Given the description of an element on the screen output the (x, y) to click on. 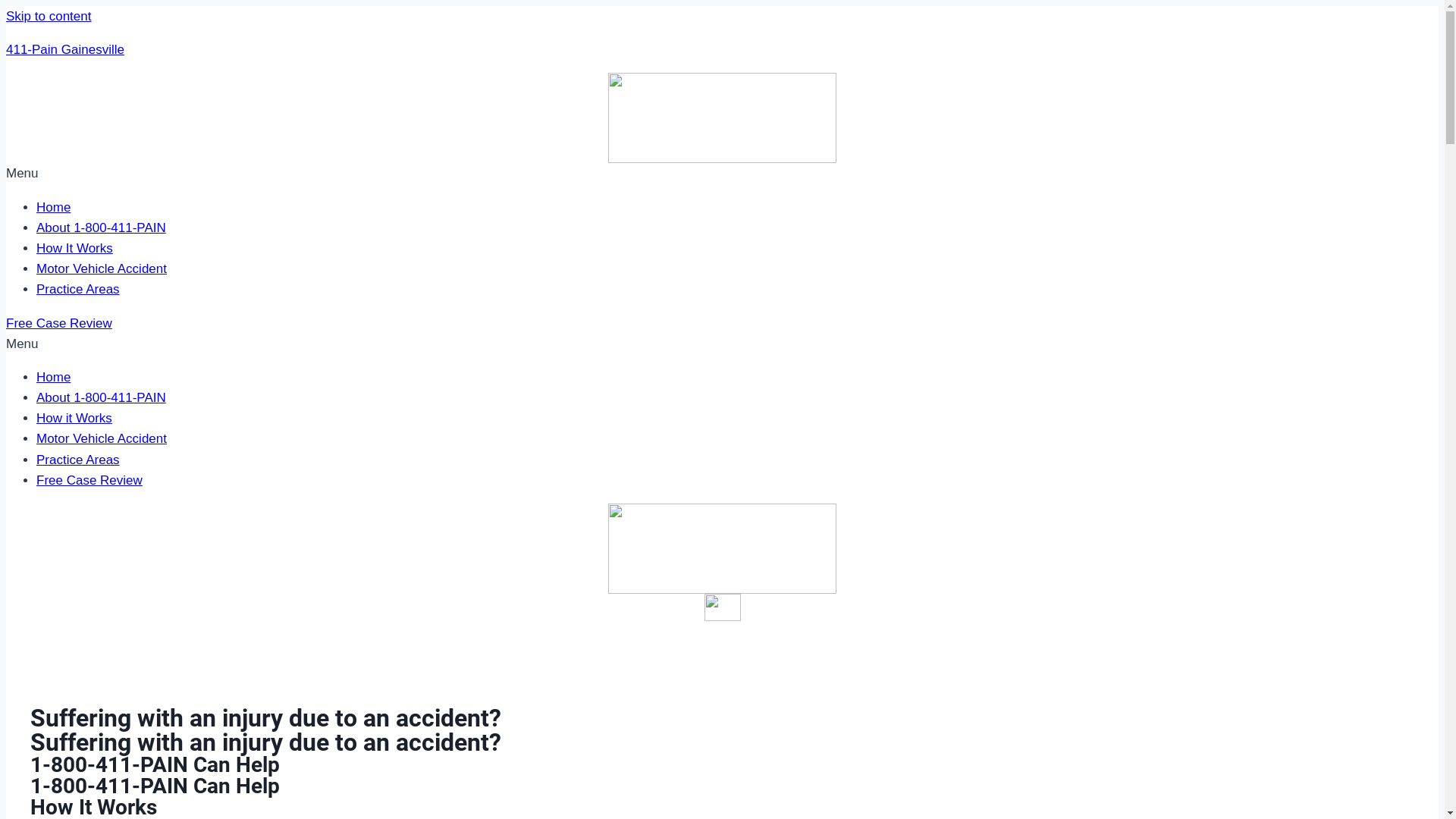
411-Pain Gainesville Element type: text (65, 49)
About 1-800-411-PAIN Element type: text (101, 227)
Free Case Review Element type: text (89, 480)
Motor Vehicle Accident Element type: text (101, 438)
Practice Areas Element type: text (77, 459)
Skip to content Element type: text (48, 16)
How It Works Element type: text (74, 248)
About 1-800-411-PAIN Element type: text (101, 397)
Home Element type: text (53, 207)
Practice Areas Element type: text (77, 289)
Free Case Review Element type: text (59, 322)
Motor Vehicle Accident Element type: text (101, 268)
Home Element type: text (53, 377)
How it Works Element type: text (74, 418)
